Given the description of an element on the screen output the (x, y) to click on. 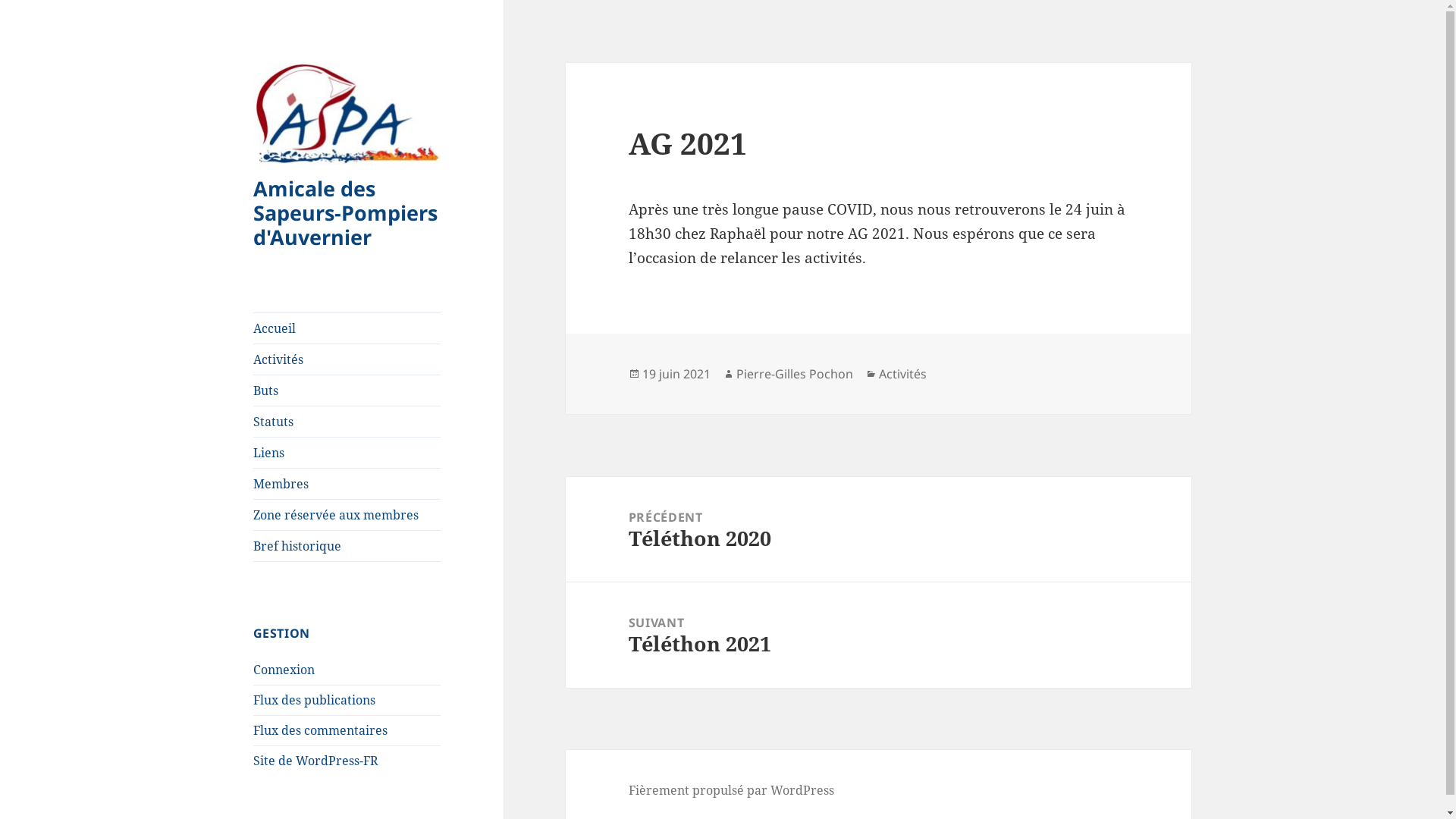
Statuts Element type: text (347, 421)
Buts Element type: text (347, 390)
Amicale des Sapeurs-Pompiers d'Auvernier Element type: text (345, 212)
Flux des publications Element type: text (314, 699)
19 juin 2021 Element type: text (676, 373)
Pierre-Gilles Pochon Element type: text (794, 373)
Connexion Element type: text (283, 669)
Site de WordPress-FR Element type: text (315, 760)
Bref historique Element type: text (347, 545)
Liens Element type: text (347, 452)
Accueil Element type: text (347, 328)
Membres Element type: text (347, 483)
Flux des commentaires Element type: text (320, 729)
